Given the description of an element on the screen output the (x, y) to click on. 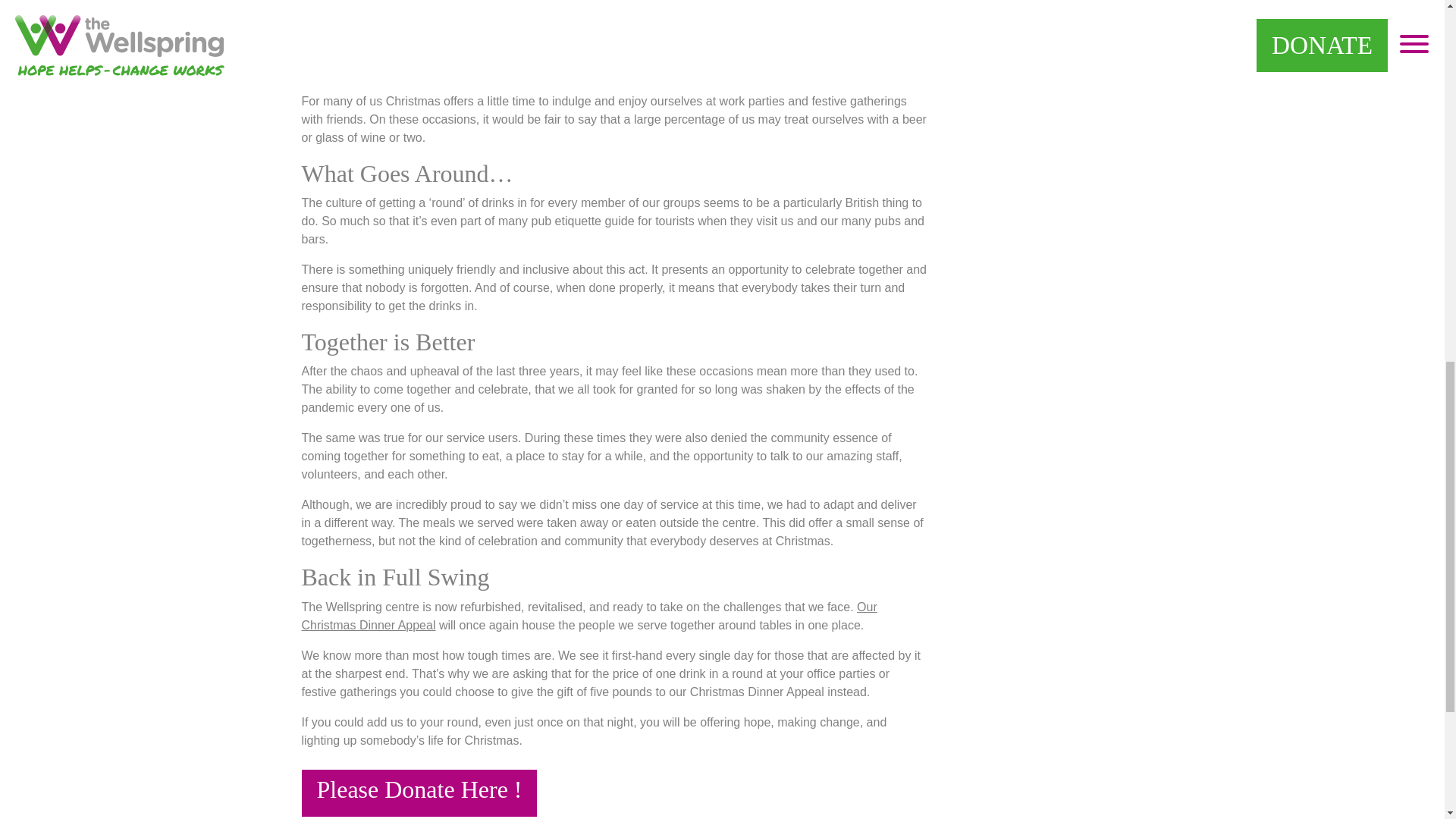
Our Christmas Dinner Appeal (589, 615)
Please Donate Here ! (419, 792)
News (370, 34)
